Given the description of an element on the screen output the (x, y) to click on. 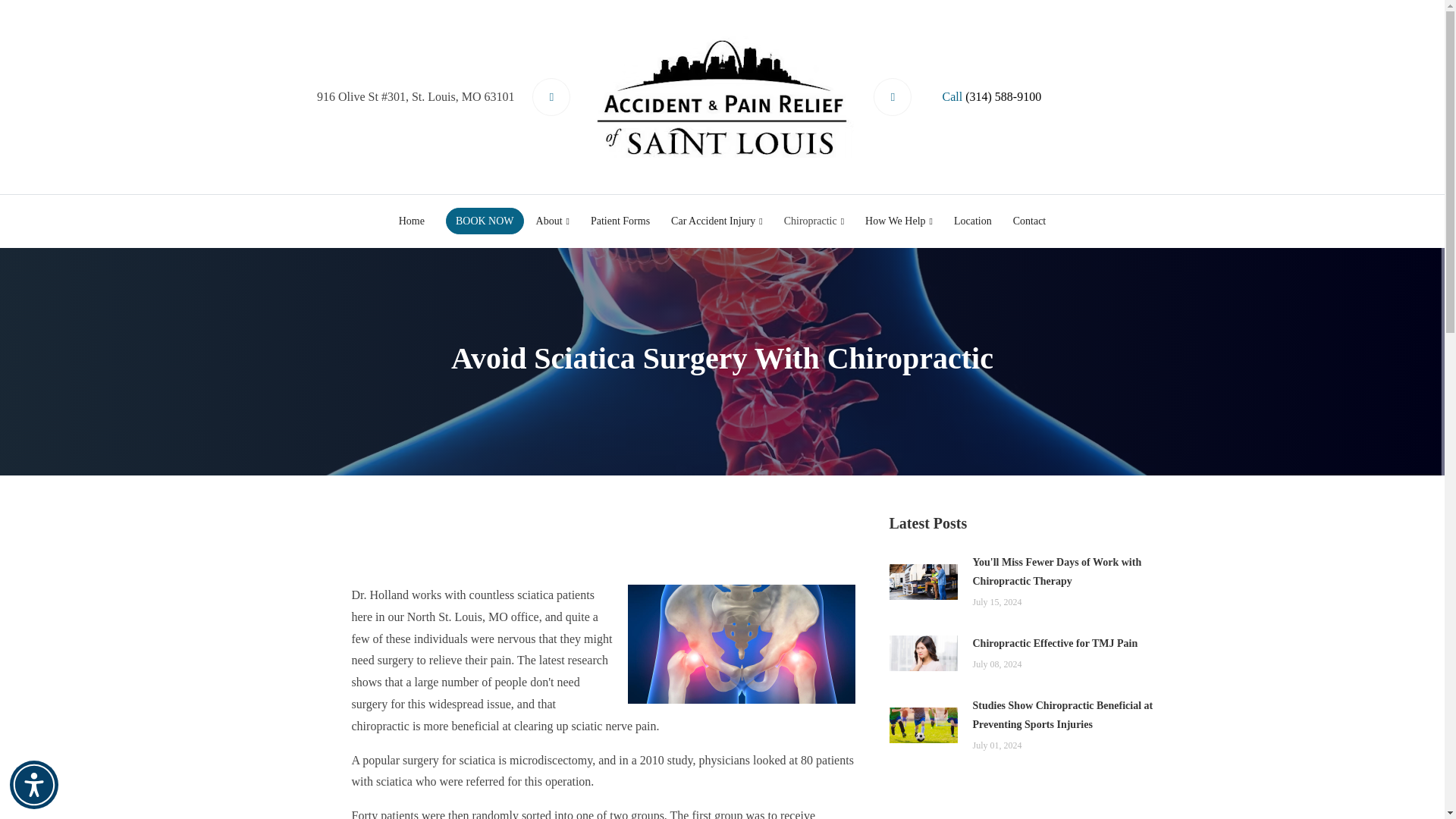
BOOK NOW (484, 221)
How We Help (899, 221)
Car Accident Injury (716, 221)
Home (411, 221)
Patient Forms (619, 221)
Location (972, 221)
About (552, 221)
Contact (1029, 221)
Chiropractic (813, 221)
Accessibility Menu (34, 784)
